Given the description of an element on the screen output the (x, y) to click on. 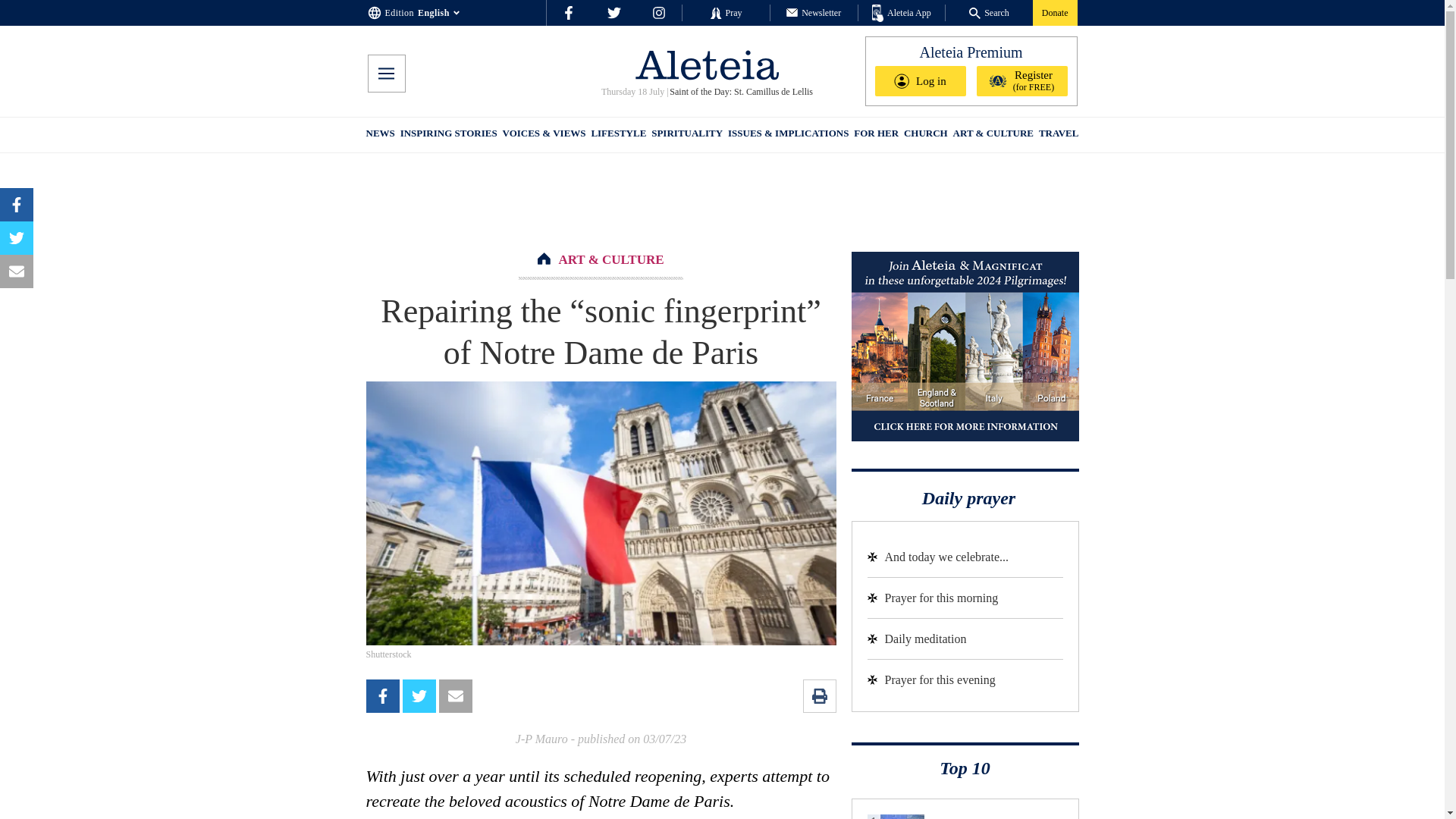
Log in (920, 81)
Pray (725, 12)
Saint of the Day: St. Camillus de Lellis (740, 91)
Newsletter (813, 12)
Donate (1054, 12)
Search (989, 12)
TRAVEL (1058, 134)
INSPIRING STORIES (448, 134)
LIFESTYLE (618, 134)
FOR HER (875, 134)
NEWS (379, 134)
SPIRITUALITY (686, 134)
Aleteia App (901, 13)
CHURCH (925, 134)
